Given the description of an element on the screen output the (x, y) to click on. 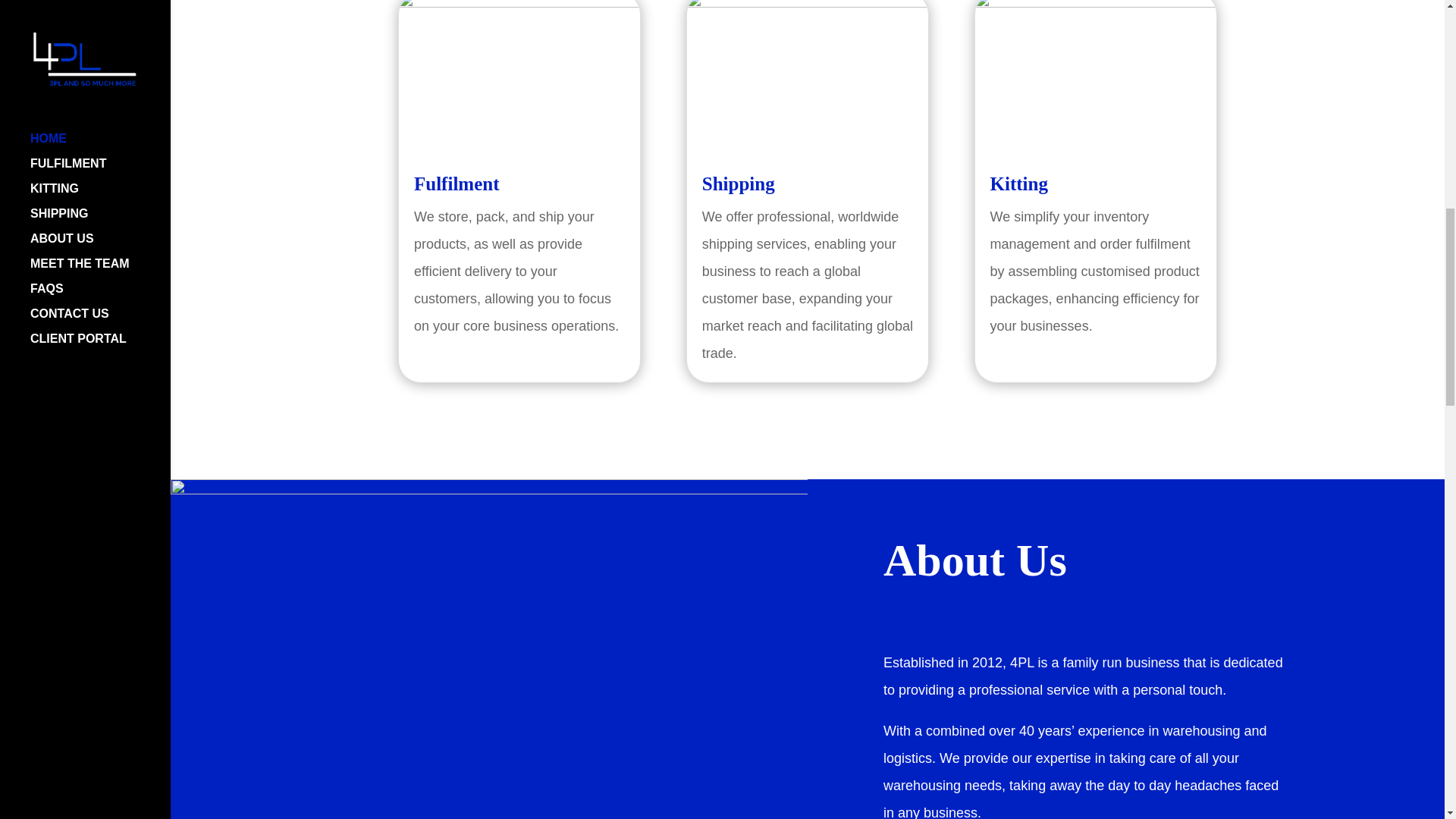
Shipping-Services (807, 76)
Kitting-Services (1095, 76)
Fulfilment-Services (519, 76)
